Given the description of an element on the screen output the (x, y) to click on. 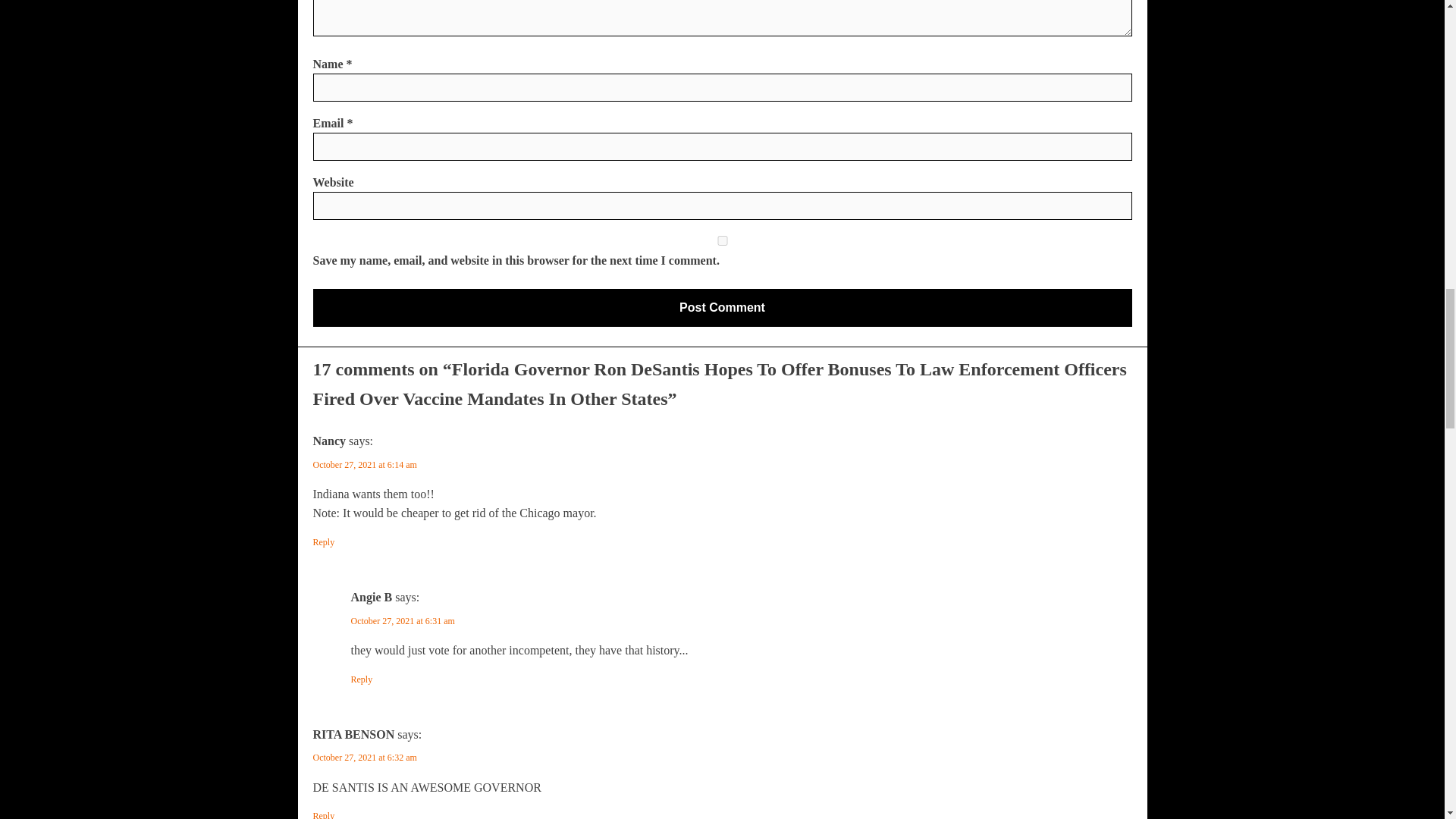
Reply (323, 542)
October 27, 2021 at 6:32 am (364, 757)
Post Comment (722, 307)
yes (722, 240)
October 27, 2021 at 6:31 am (402, 620)
Reply (323, 814)
Post Comment (722, 307)
Reply (361, 679)
October 27, 2021 at 6:14 am (364, 464)
